Given the description of an element on the screen output the (x, y) to click on. 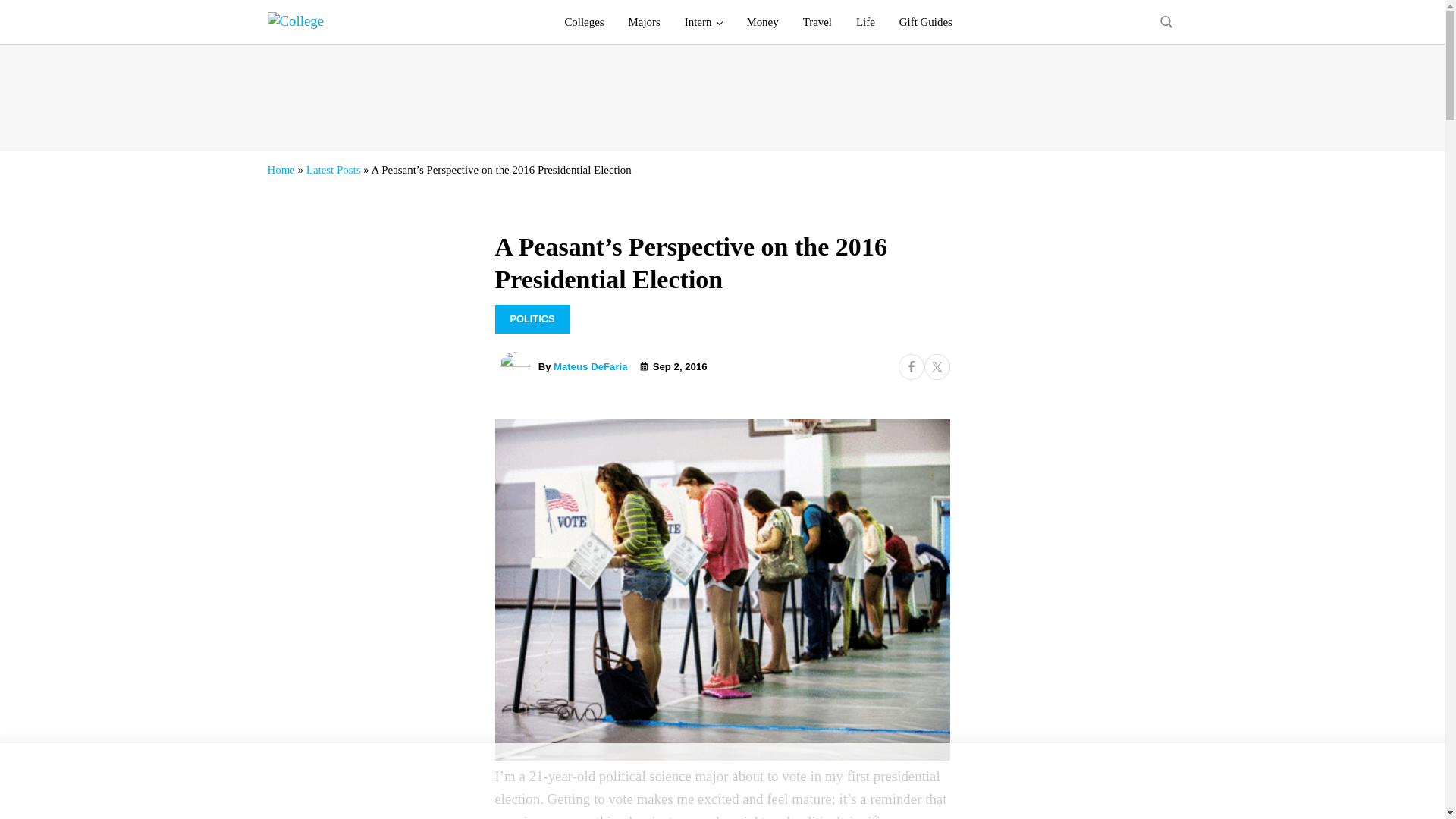
Travel (817, 21)
Latest Posts (333, 169)
Share on Facebook (910, 366)
Home (280, 169)
Colleges (583, 21)
Money (761, 21)
Intern (703, 21)
Majors (643, 21)
Life (865, 21)
